Given the description of an element on the screen output the (x, y) to click on. 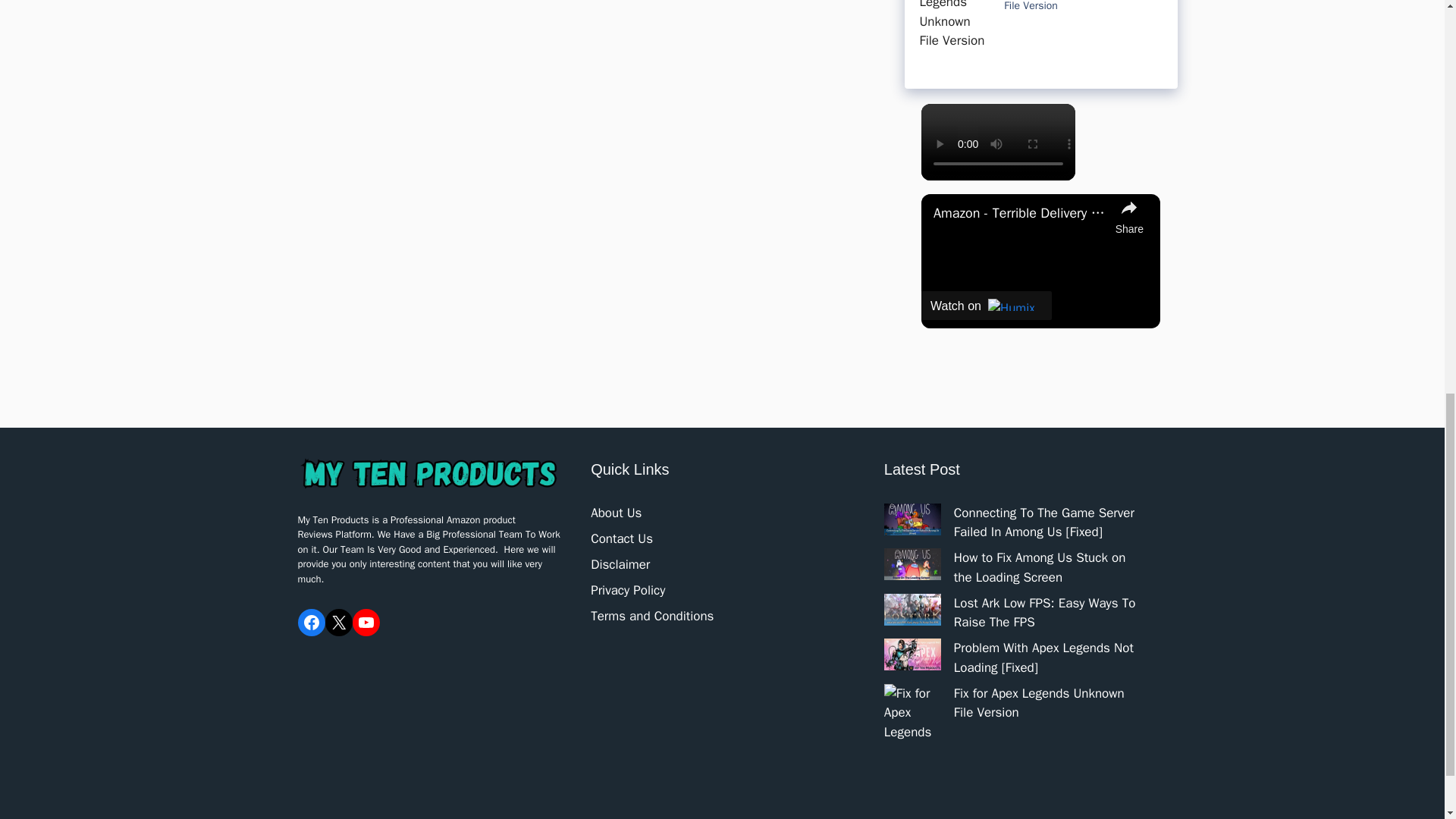
Facebook (310, 622)
Contact Us (621, 538)
Privacy Policy (628, 590)
Watch on (986, 305)
Terms and Conditions (652, 616)
Fix for Apex Legends Unknown File Version (1074, 6)
Disclaimer (620, 564)
YouTube (365, 622)
Lost Ark Low FPS: Easy Ways To Raise The FPS (1044, 612)
X (338, 622)
About Us (616, 512)
How to Fix Among Us Stuck on the Loading Screen (1039, 567)
